Given the description of an element on the screen output the (x, y) to click on. 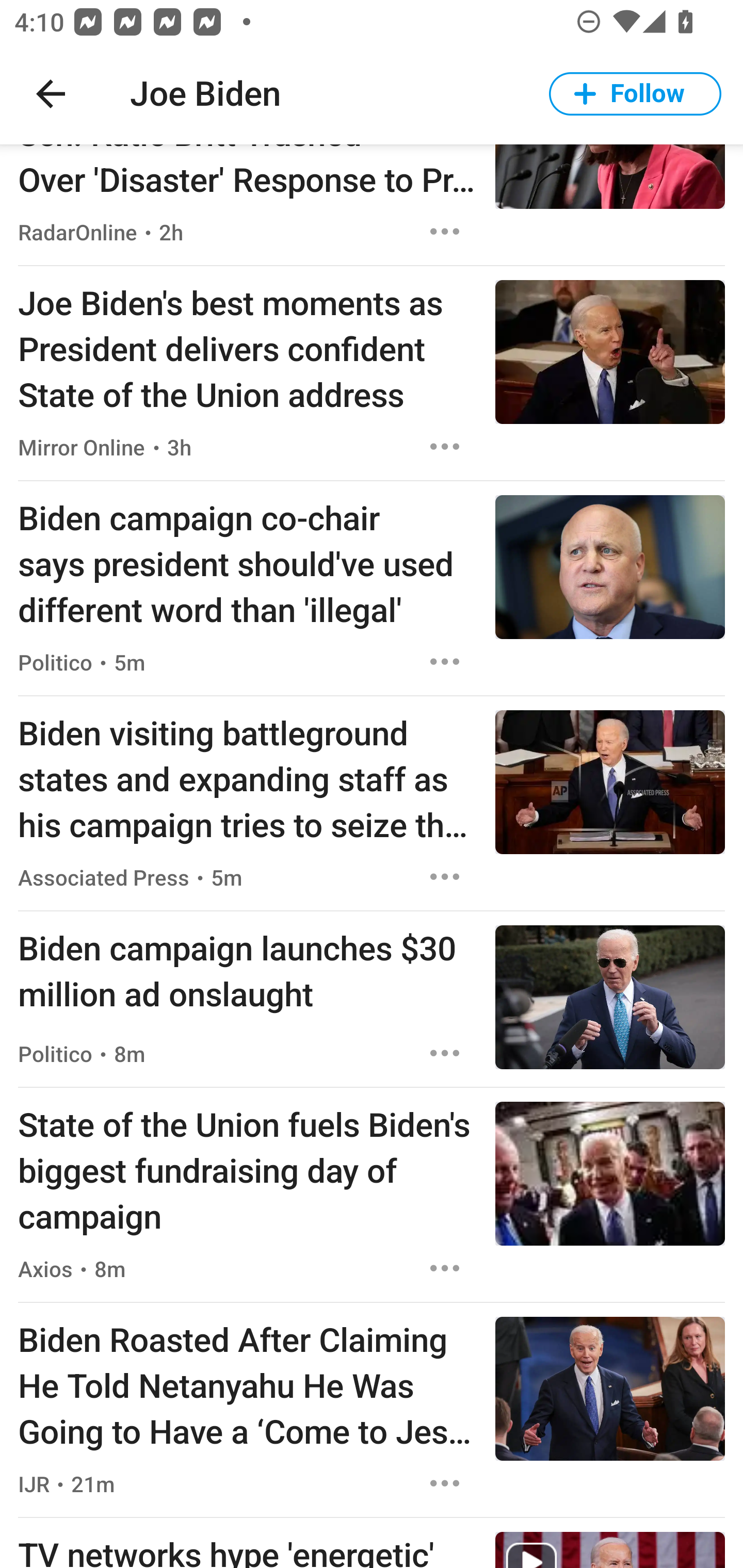
Navigate up (50, 93)
Follow (635, 94)
Options (444, 232)
Options (444, 446)
Options (444, 661)
Options (444, 876)
Options (444, 1053)
Options (444, 1268)
Options (444, 1483)
